Given the description of an element on the screen output the (x, y) to click on. 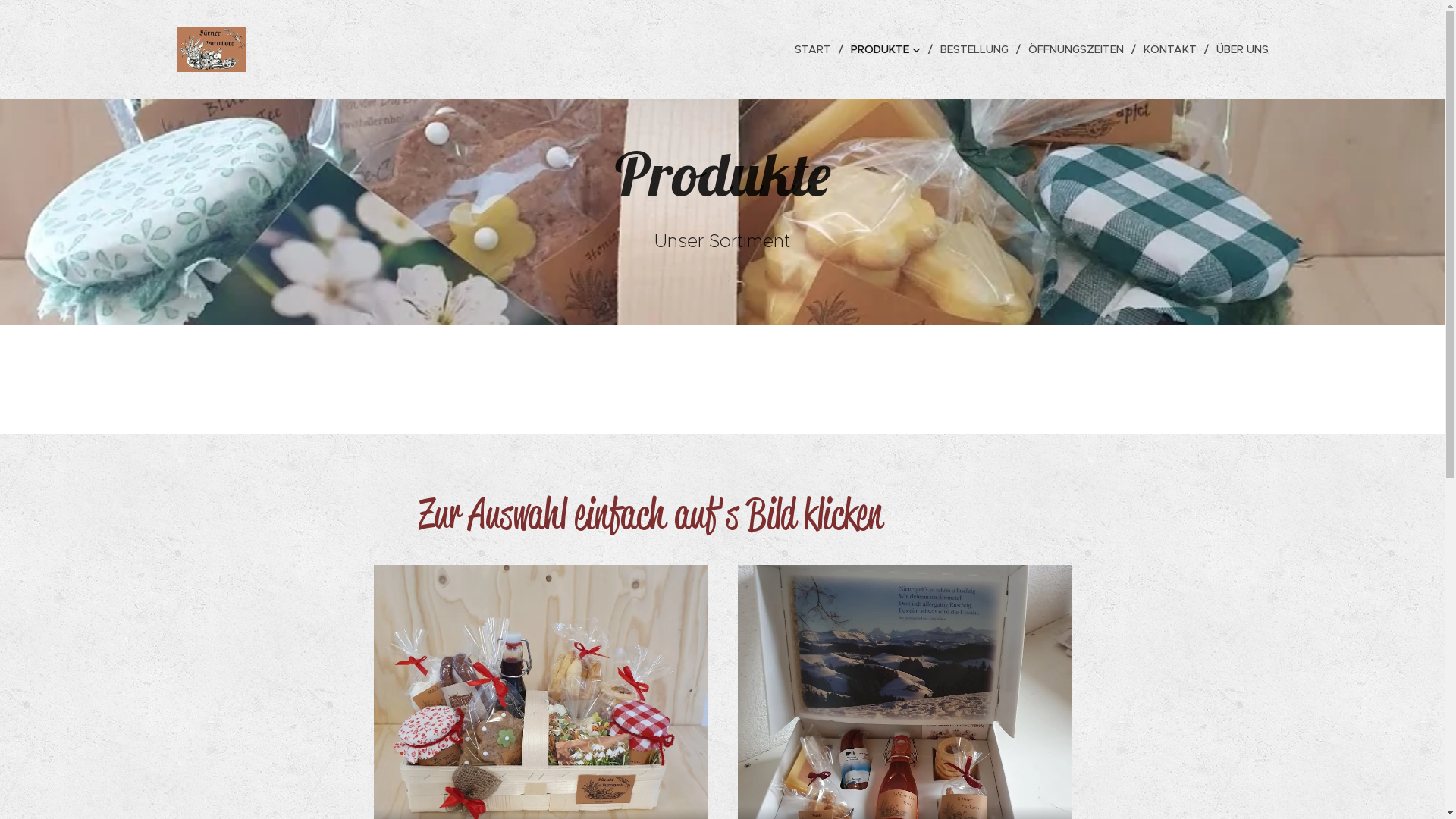
START Element type: text (816, 49)
KONTAKT Element type: text (1171, 49)
BESTELLUNG Element type: text (976, 49)
PRODUKTE Element type: text (887, 49)
